Given the description of an element on the screen output the (x, y) to click on. 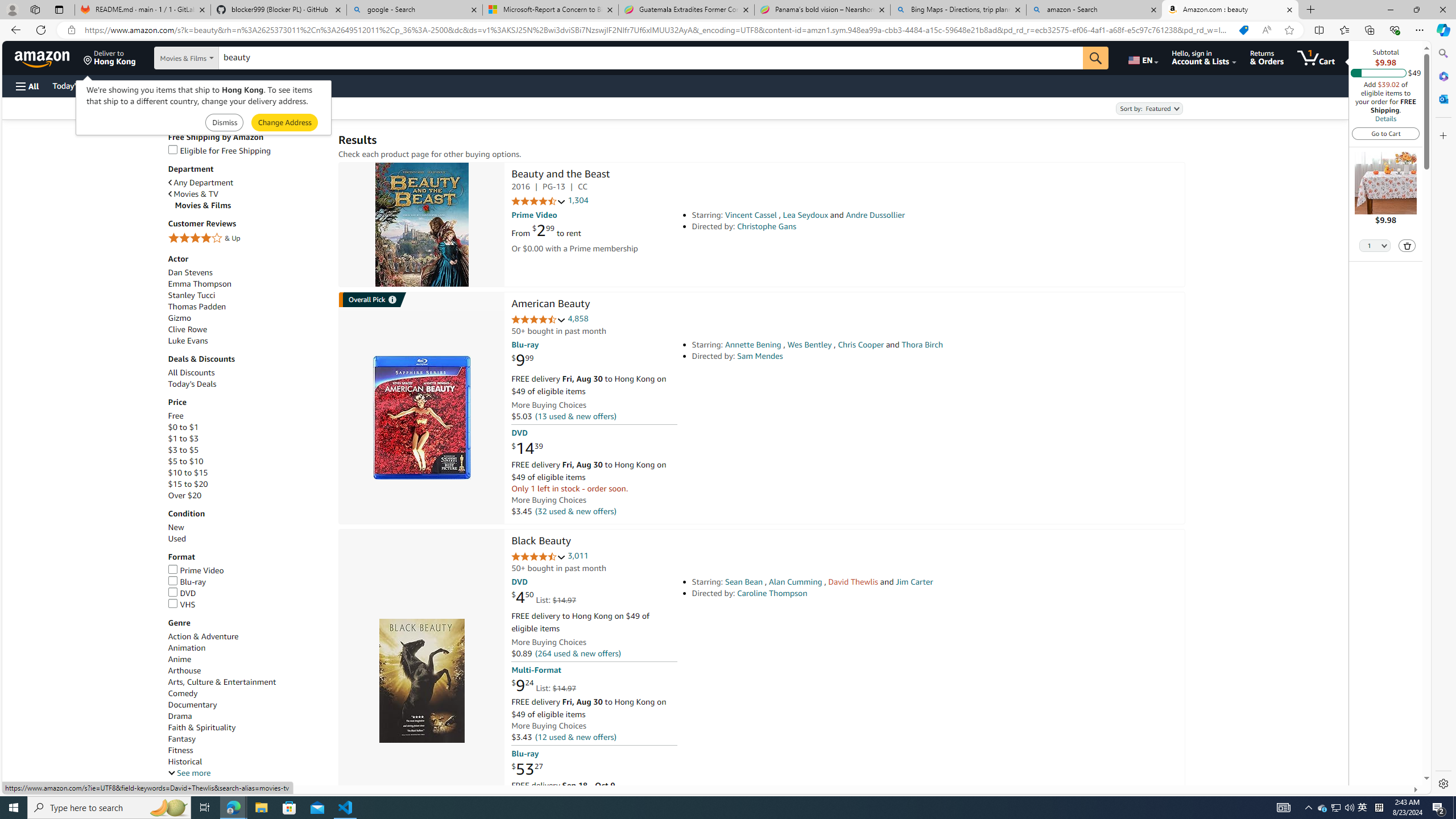
$9.99 (522, 360)
All Discounts (247, 372)
(32 used & new offers) (574, 511)
Vincent Cassel (751, 214)
American Beauty (550, 304)
Details (1385, 118)
$15 to $20 (247, 483)
$4.50 List: $14.97 (543, 597)
$10 to $15 (187, 472)
4 Stars & Up& Up (247, 238)
Amazon (43, 57)
Any Department (247, 182)
Customer Service (145, 85)
